Given the description of an element on the screen output the (x, y) to click on. 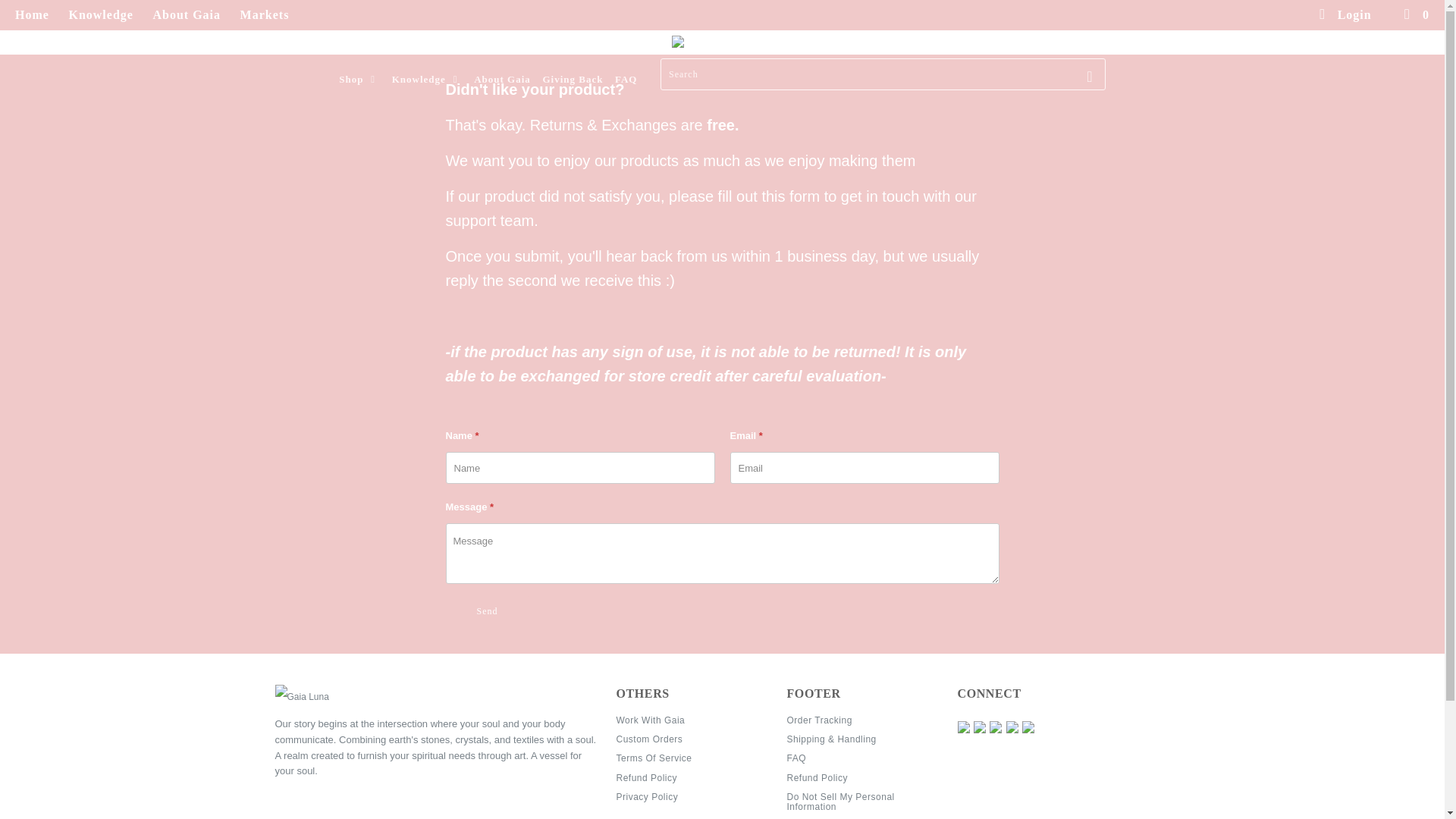
Knowledge (427, 79)
Send (487, 611)
Shop (359, 79)
About Gaia (186, 15)
Markets (264, 15)
Giving Back (571, 79)
Knowledge (100, 15)
My Account  (1344, 15)
About Gaia (502, 79)
Login (1344, 15)
